Given the description of an element on the screen output the (x, y) to click on. 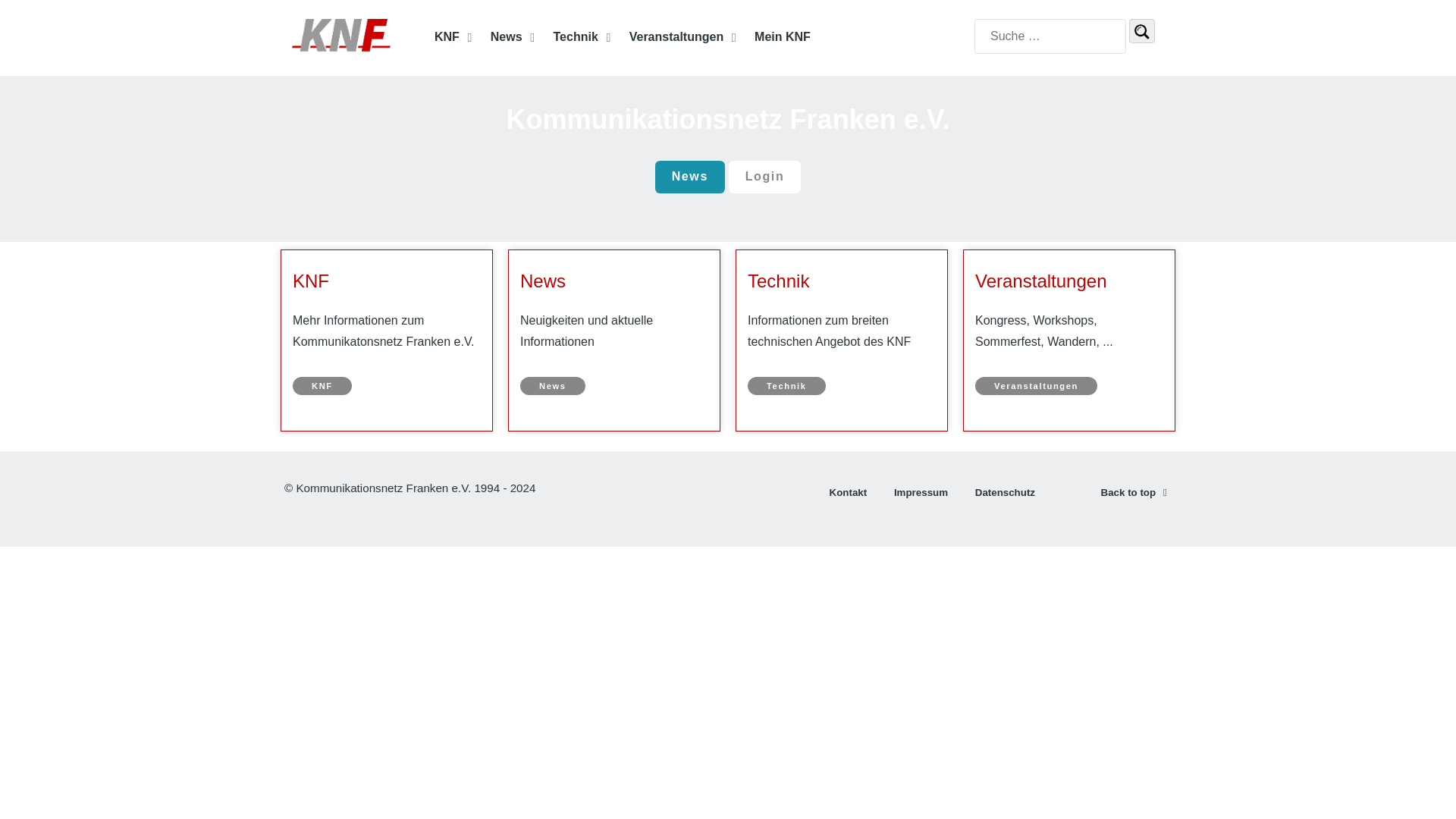
News (513, 38)
Technik (583, 38)
Back to top (1136, 491)
Veranstaltungen (683, 38)
Kontakt (848, 495)
KNF (453, 38)
Datenschutz (1005, 495)
Impressum (920, 495)
